Given the description of an element on the screen output the (x, y) to click on. 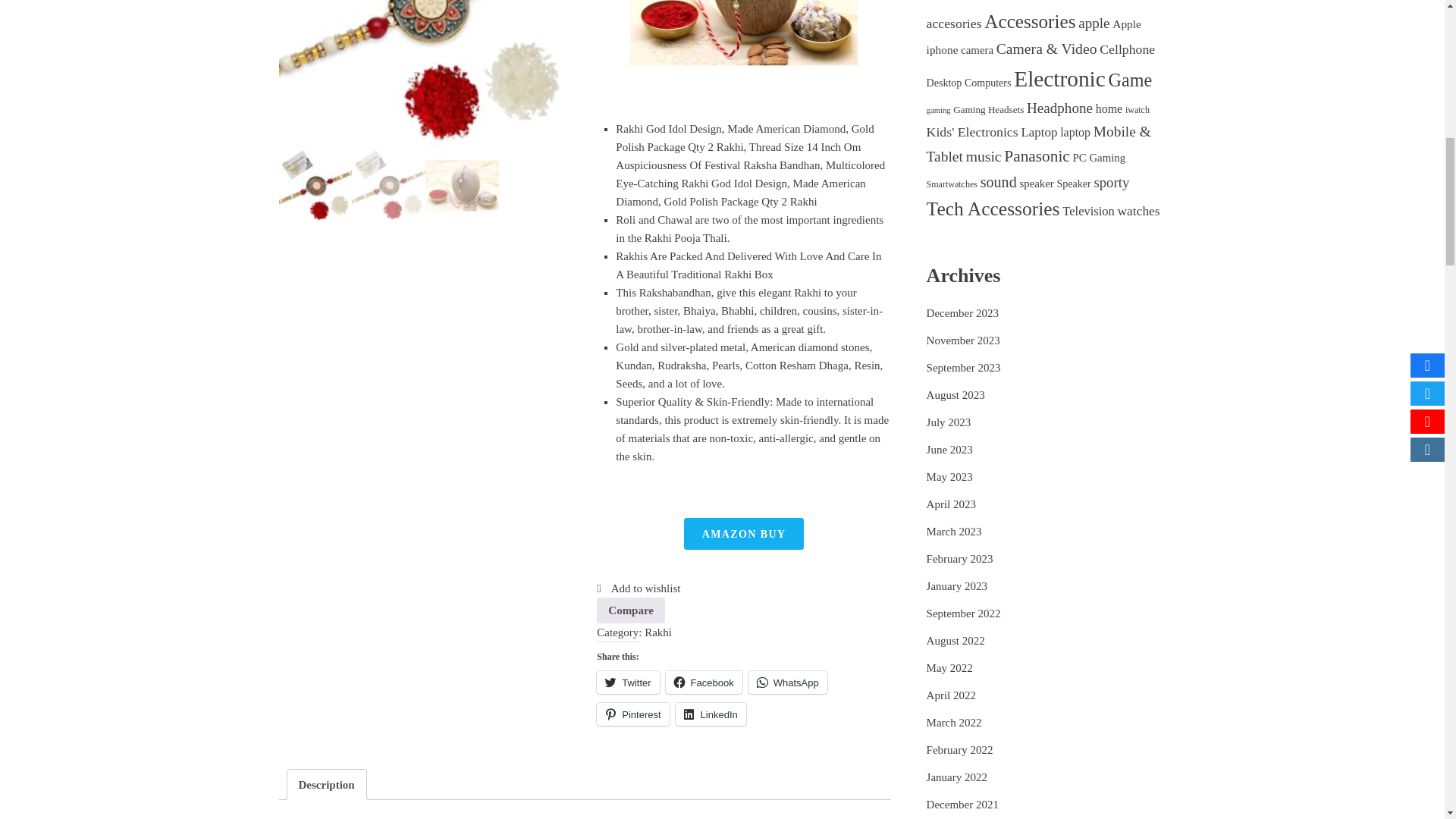
Click to share on Twitter (627, 681)
Rakhi (658, 632)
Click to share on LinkedIn (710, 713)
AMAZON BUY (743, 533)
Pinterest (632, 713)
LinkedIn (710, 713)
Click to share on WhatsApp (787, 681)
Click to share on Pinterest (632, 713)
Description (326, 784)
Click to share on Facebook (703, 681)
Facebook (703, 681)
WhatsApp (787, 681)
Twitter (627, 681)
28-min (426, 74)
Compare (630, 610)
